Given the description of an element on the screen output the (x, y) to click on. 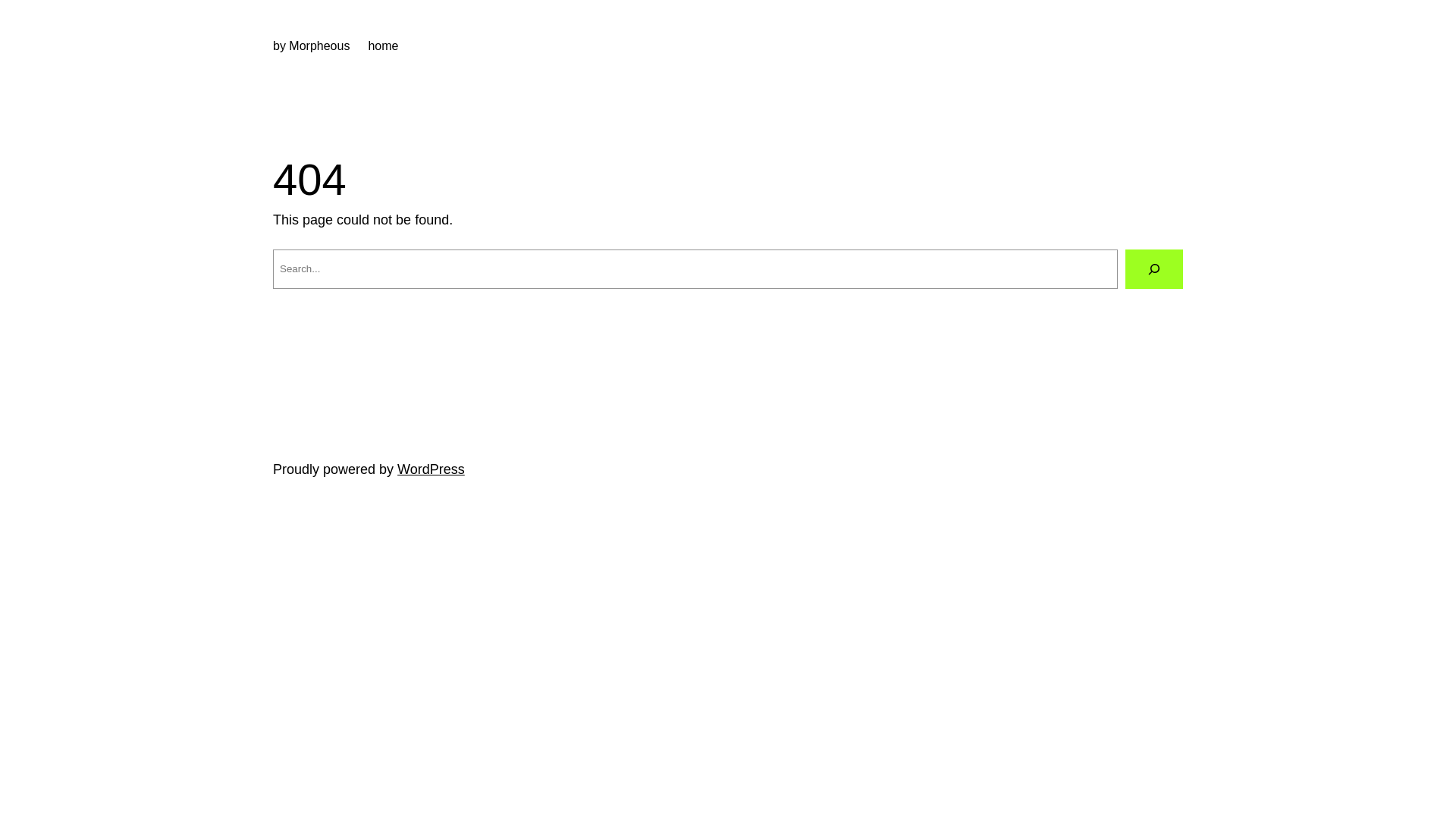
by Morpheous Element type: text (311, 46)
WordPress Element type: text (430, 468)
home Element type: text (382, 46)
